Given the description of an element on the screen output the (x, y) to click on. 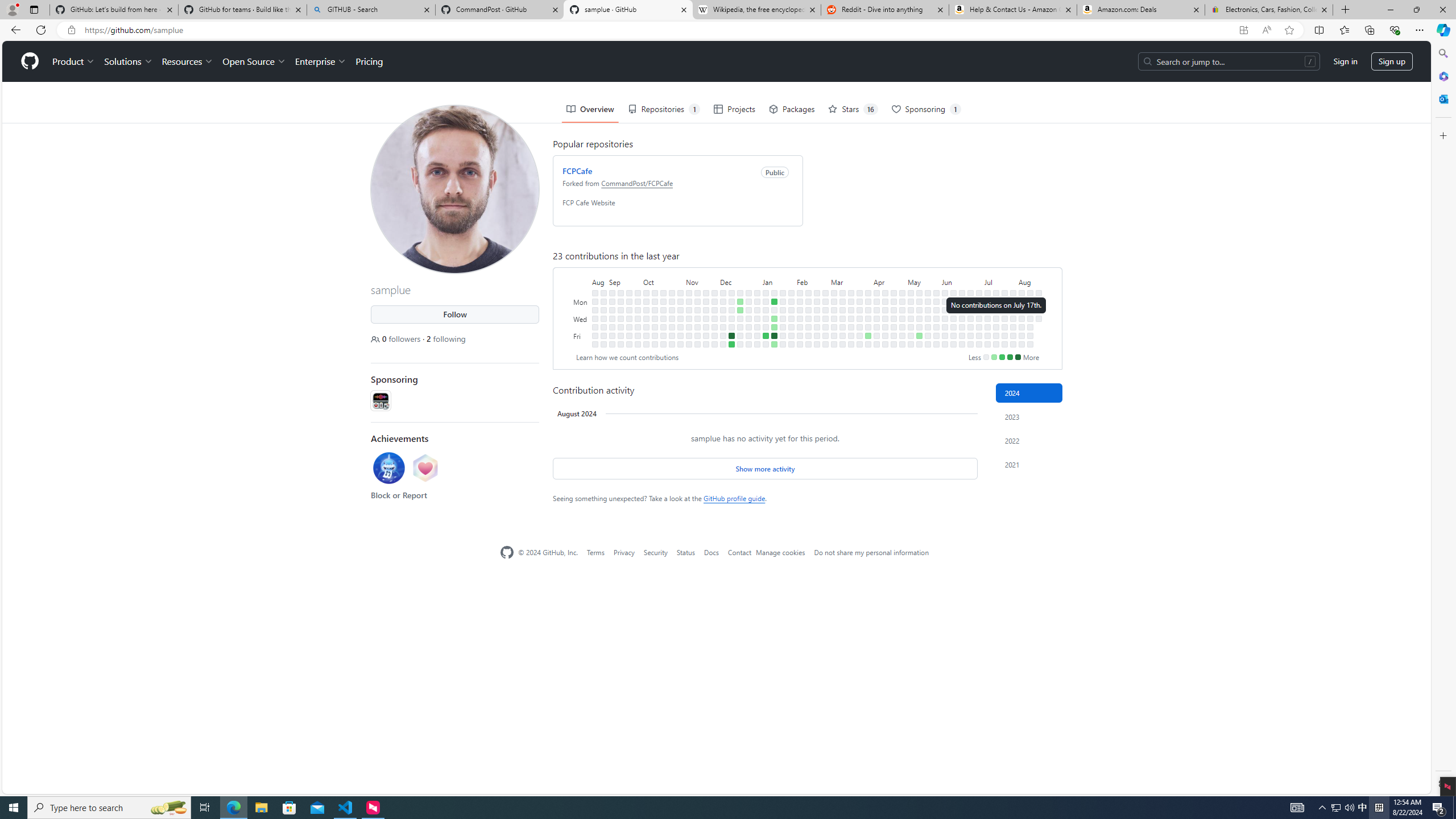
No contributions on October 26th. (671, 326)
No contributions on November 4th. (680, 343)
No contributions on April 22nd. (893, 301)
No contributions on September 19th. (628, 309)
No contributions on March 24th. (859, 292)
June (962, 280)
No contributions on July 17th. (995, 318)
Do not share my personal information (870, 552)
No contributions on June 12th. (953, 318)
No contributions on November 26th. (714, 292)
No contributions on August 12th. (1029, 301)
No contributions on June 27th. (970, 326)
No contributions on February 4th. (799, 292)
